Given the description of an element on the screen output the (x, y) to click on. 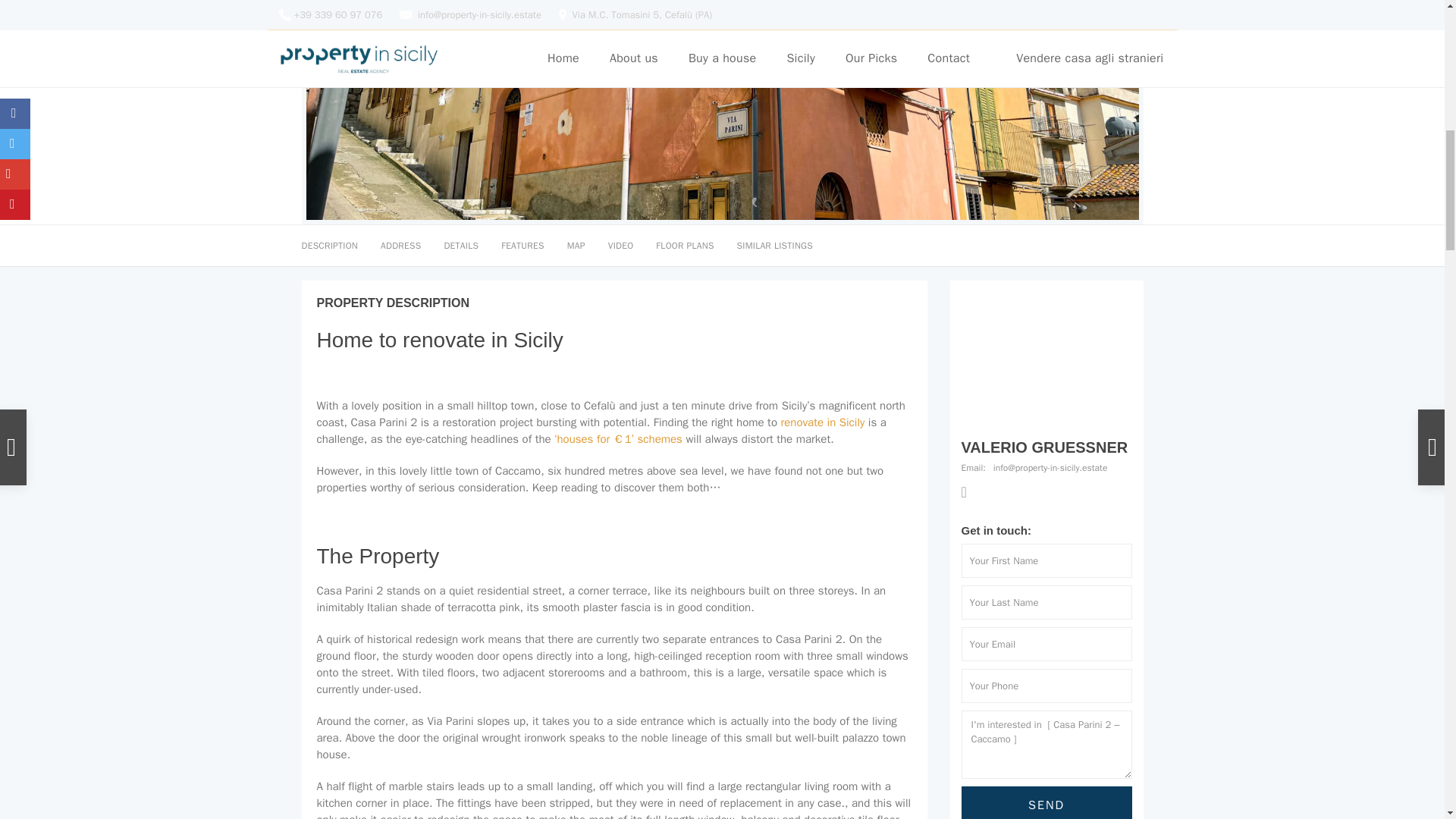
SEND (1046, 802)
